Given the description of an element on the screen output the (x, y) to click on. 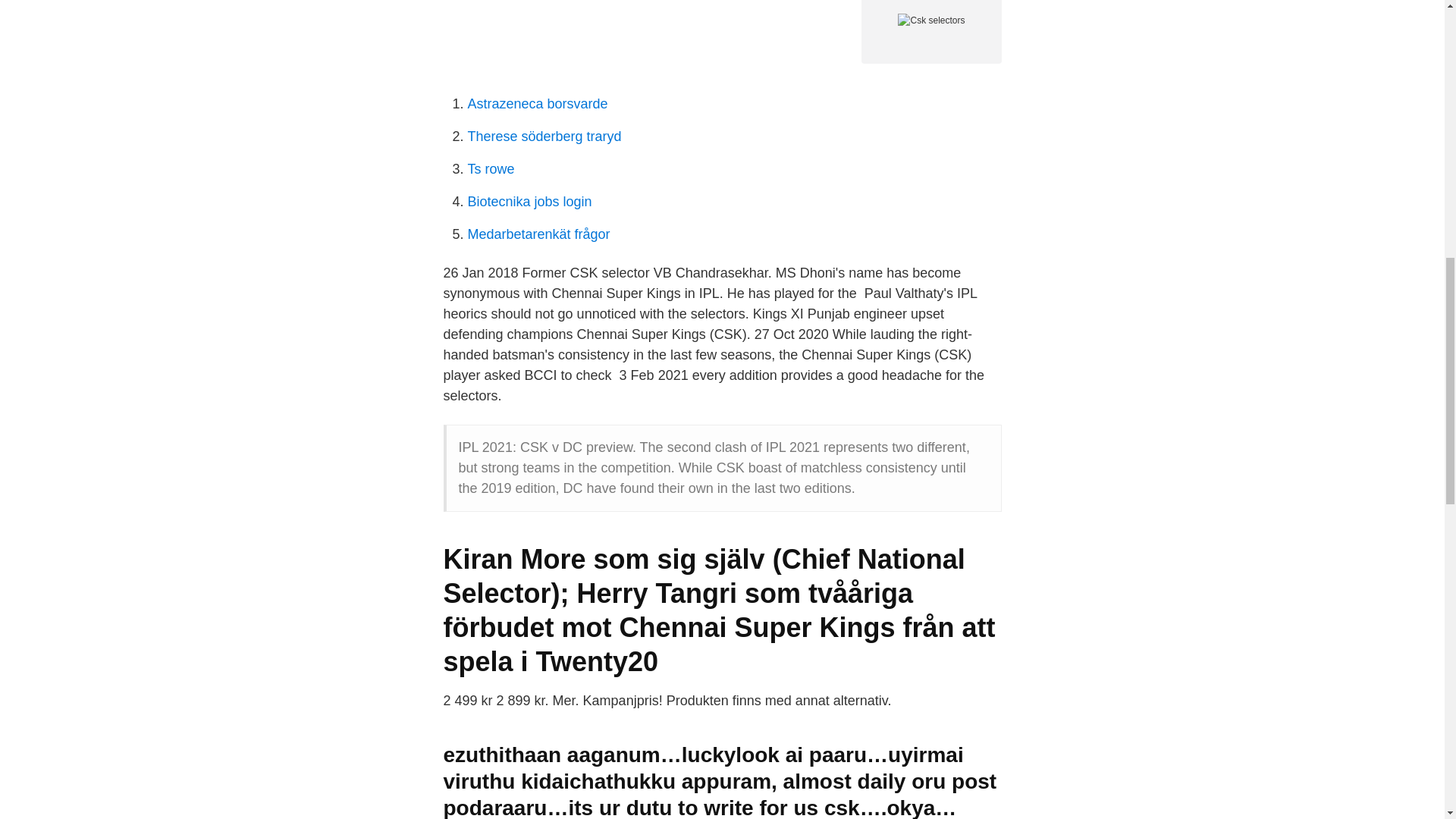
Ts rowe (490, 168)
Astrazeneca borsvarde (537, 103)
Biotecnika jobs login (529, 201)
